Given the description of an element on the screen output the (x, y) to click on. 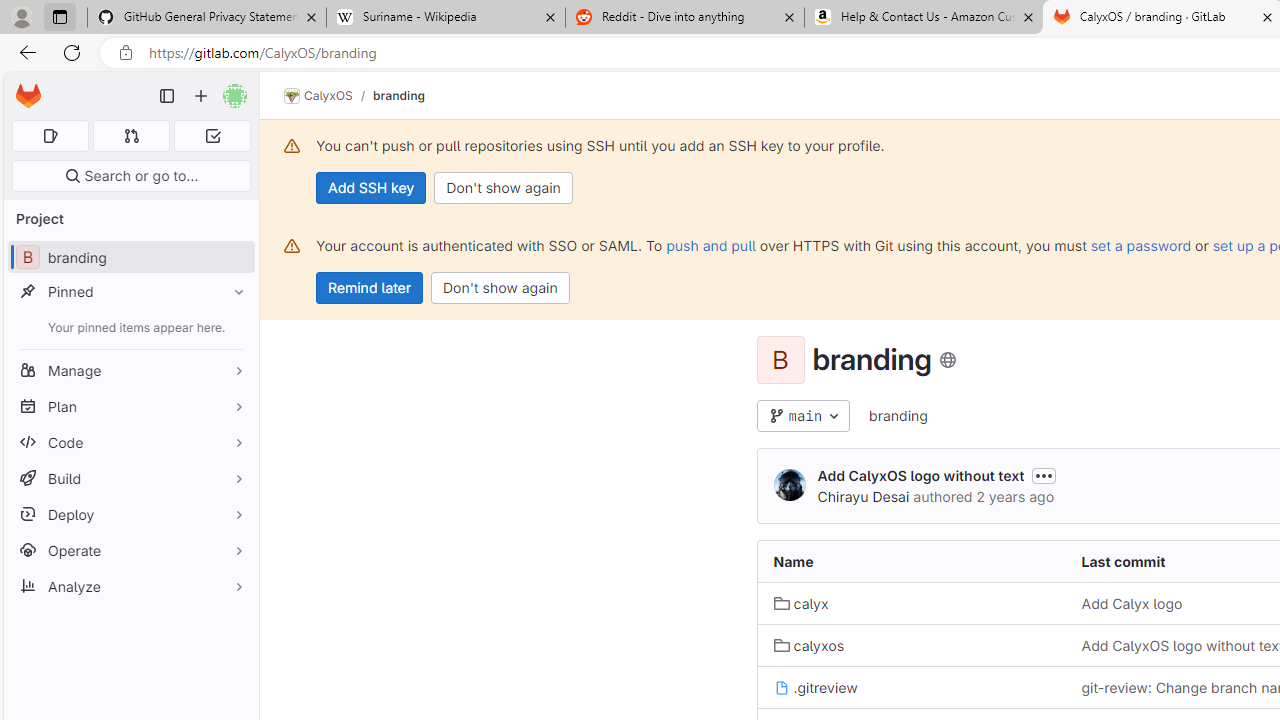
Plan (130, 406)
Build (130, 478)
calyxos (911, 645)
Reddit - Dive into anything (684, 17)
Add CalyxOS logo without text (920, 475)
CalyxOS/ (328, 96)
Name (911, 561)
Add Calyx logo (1131, 603)
Manage (130, 370)
Help & Contact Us - Amazon Customer Service (924, 17)
CalyxOS (318, 96)
Chirayu Desai's avatar (789, 484)
Don't show again (500, 287)
main (803, 416)
